Given the description of an element on the screen output the (x, y) to click on. 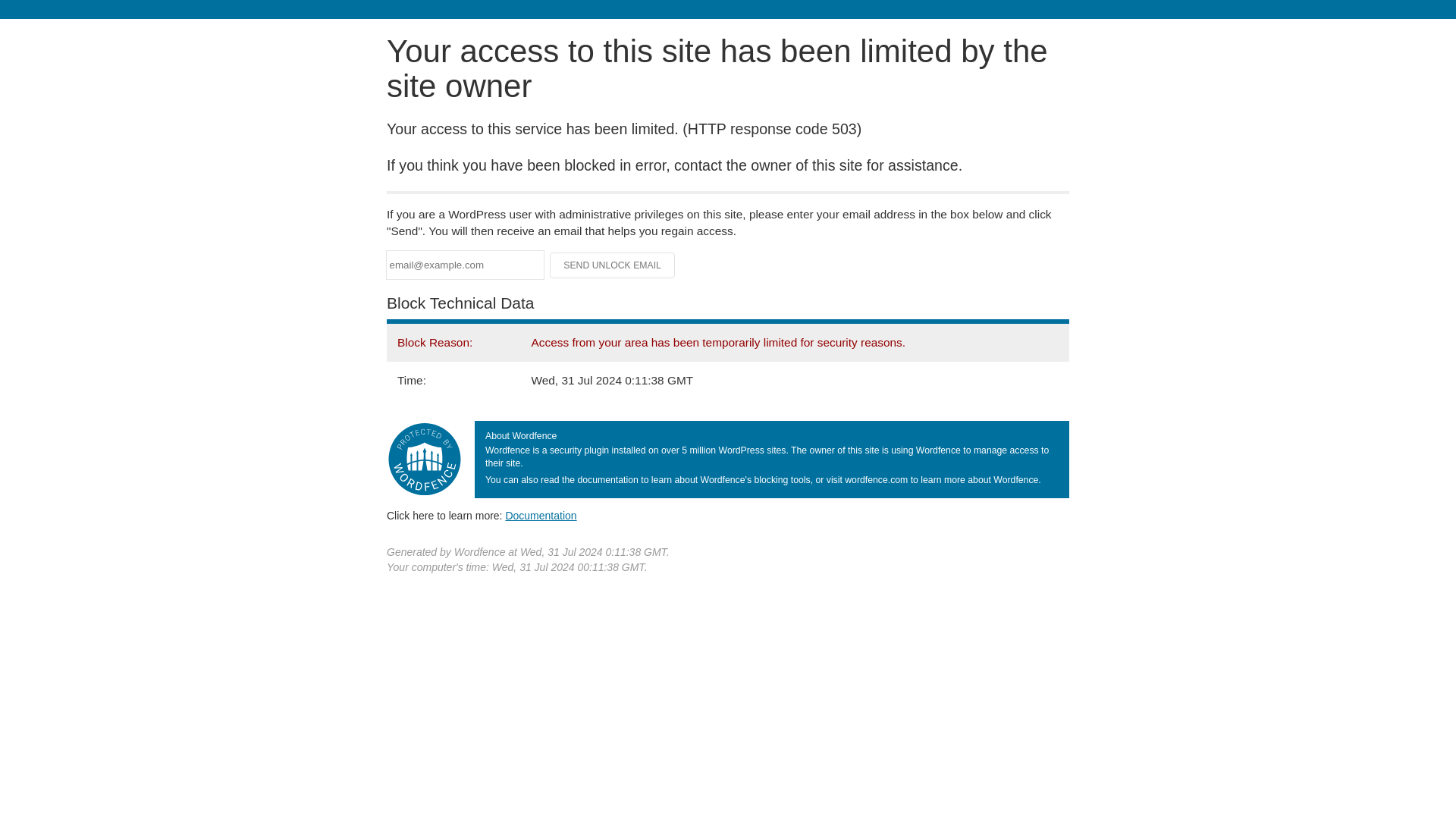
Send Unlock Email (612, 265)
Send Unlock Email (612, 265)
Documentation (540, 515)
